Given the description of an element on the screen output the (x, y) to click on. 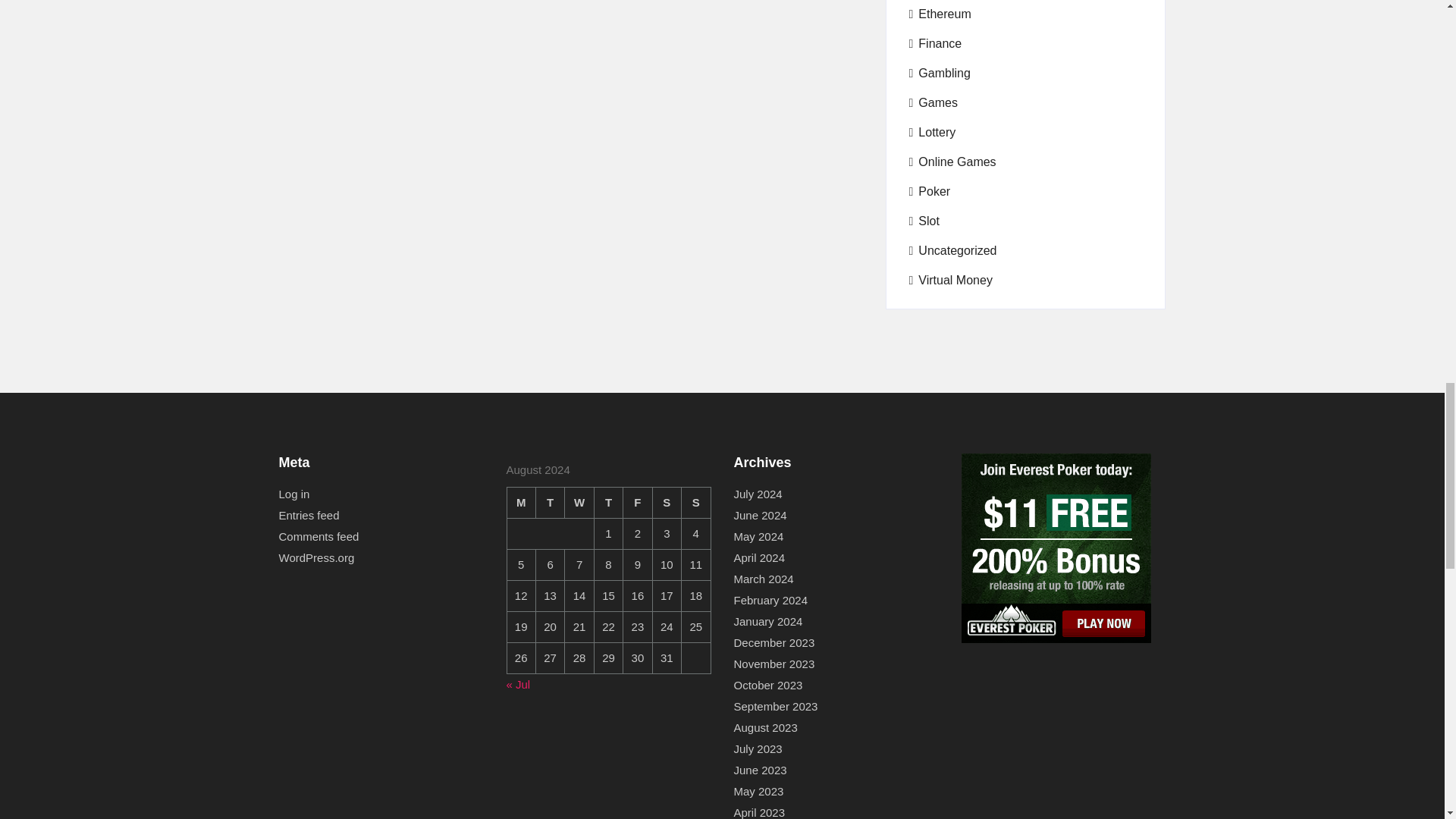
Monday (520, 502)
July 2024 (758, 494)
Log in (294, 494)
Tuesday (549, 502)
Poker (929, 191)
Ethereum (939, 13)
Friday (637, 502)
Saturday (666, 502)
Sunday (695, 502)
Virtual Money (949, 280)
